Given the description of an element on the screen output the (x, y) to click on. 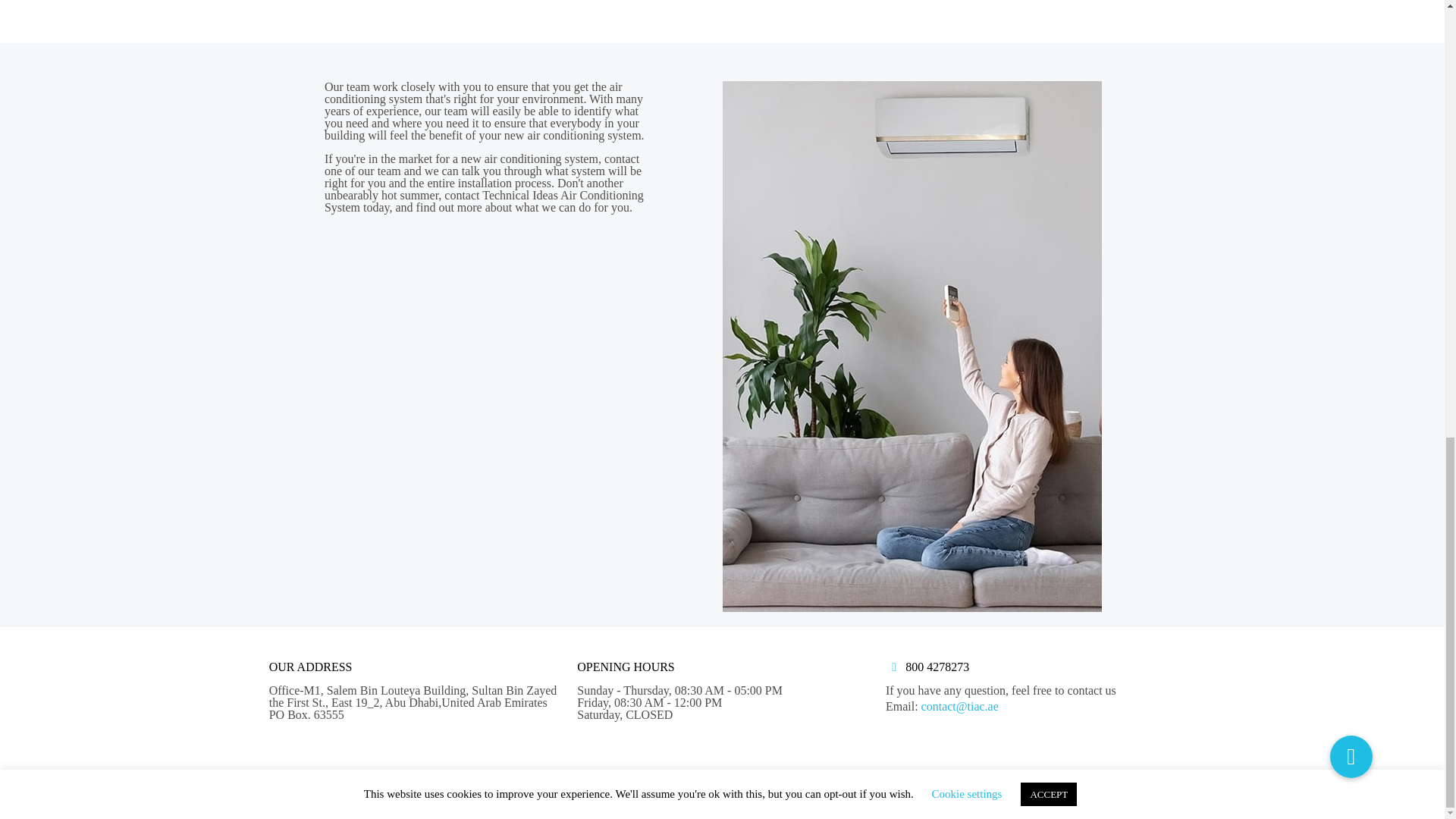
LinkedIn (1100, 784)
Localmedia.ae (639, 784)
Facebook (1059, 784)
Twitter (1079, 784)
800 4278273 (937, 666)
Instagram (1120, 784)
